Given the description of an element on the screen output the (x, y) to click on. 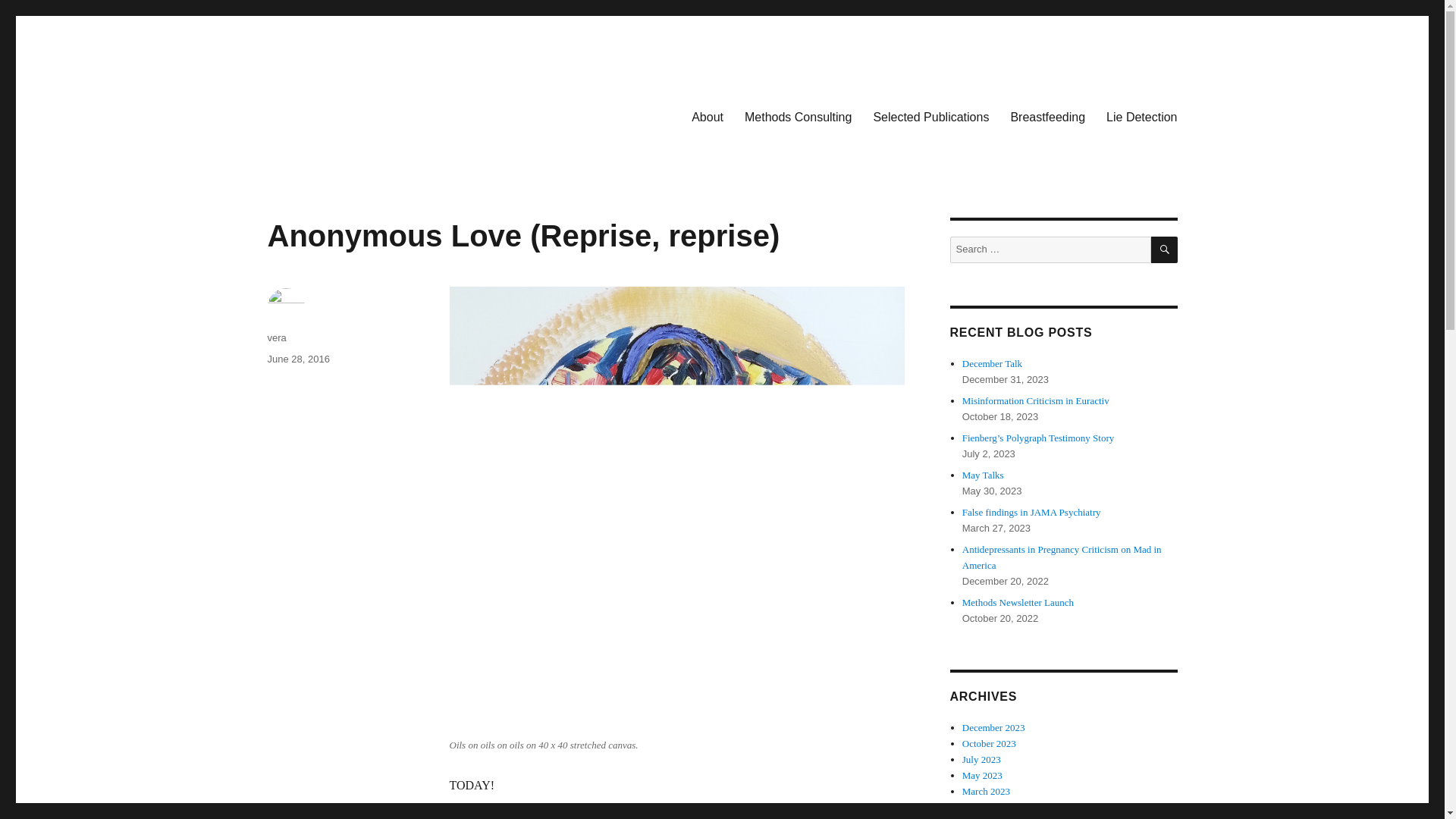
Lie Detection (1142, 116)
June 28, 2016 (297, 358)
December Talk (992, 363)
SEARCH (1164, 249)
May Talks (983, 474)
Vera Wilde (320, 114)
Selected Publications (929, 116)
Methods Consulting (797, 116)
About (707, 116)
October 2023 (989, 743)
